Given the description of an element on the screen output the (x, y) to click on. 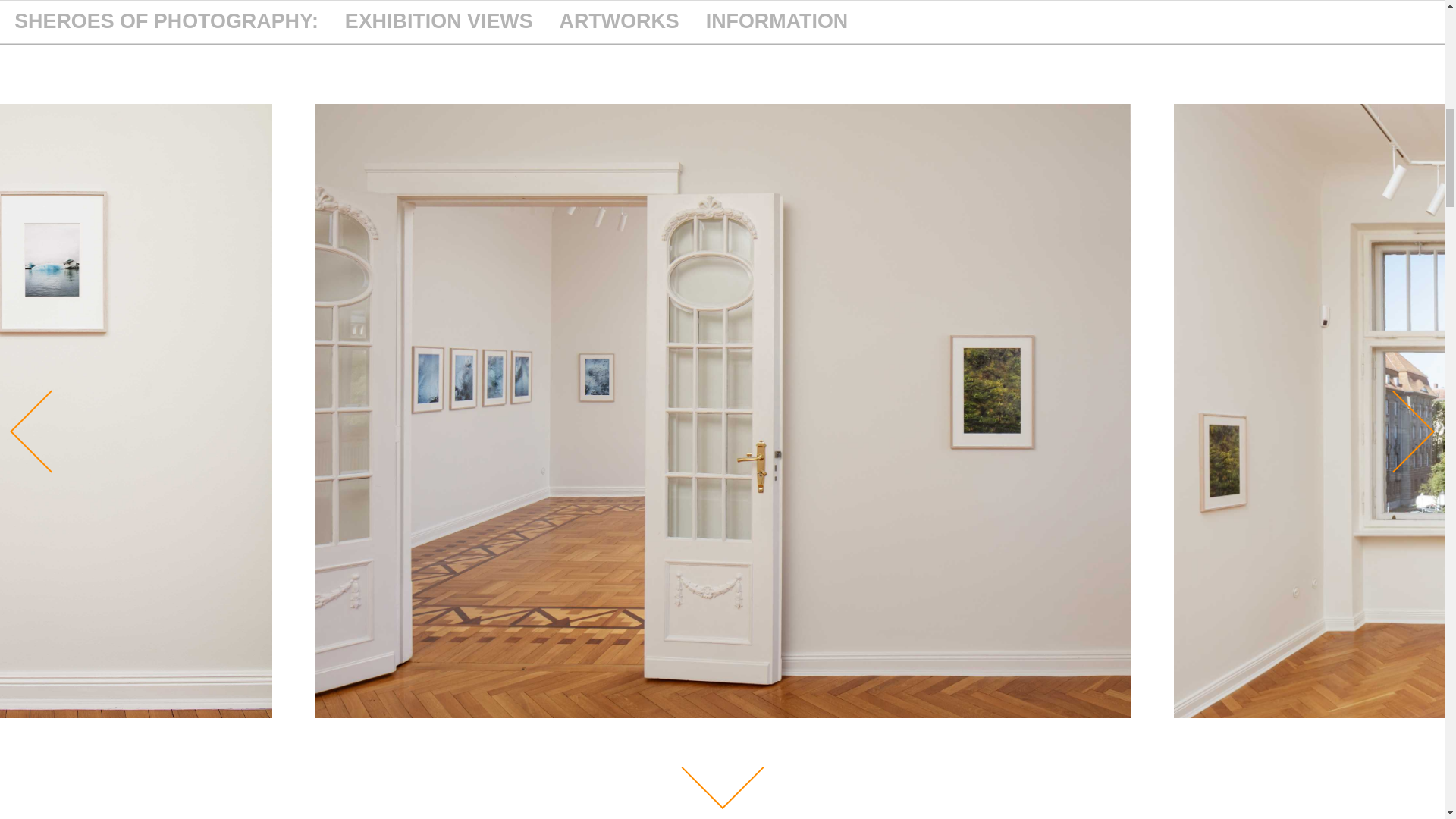
Previous (39, 418)
Next (1381, 418)
